Given the description of an element on the screen output the (x, y) to click on. 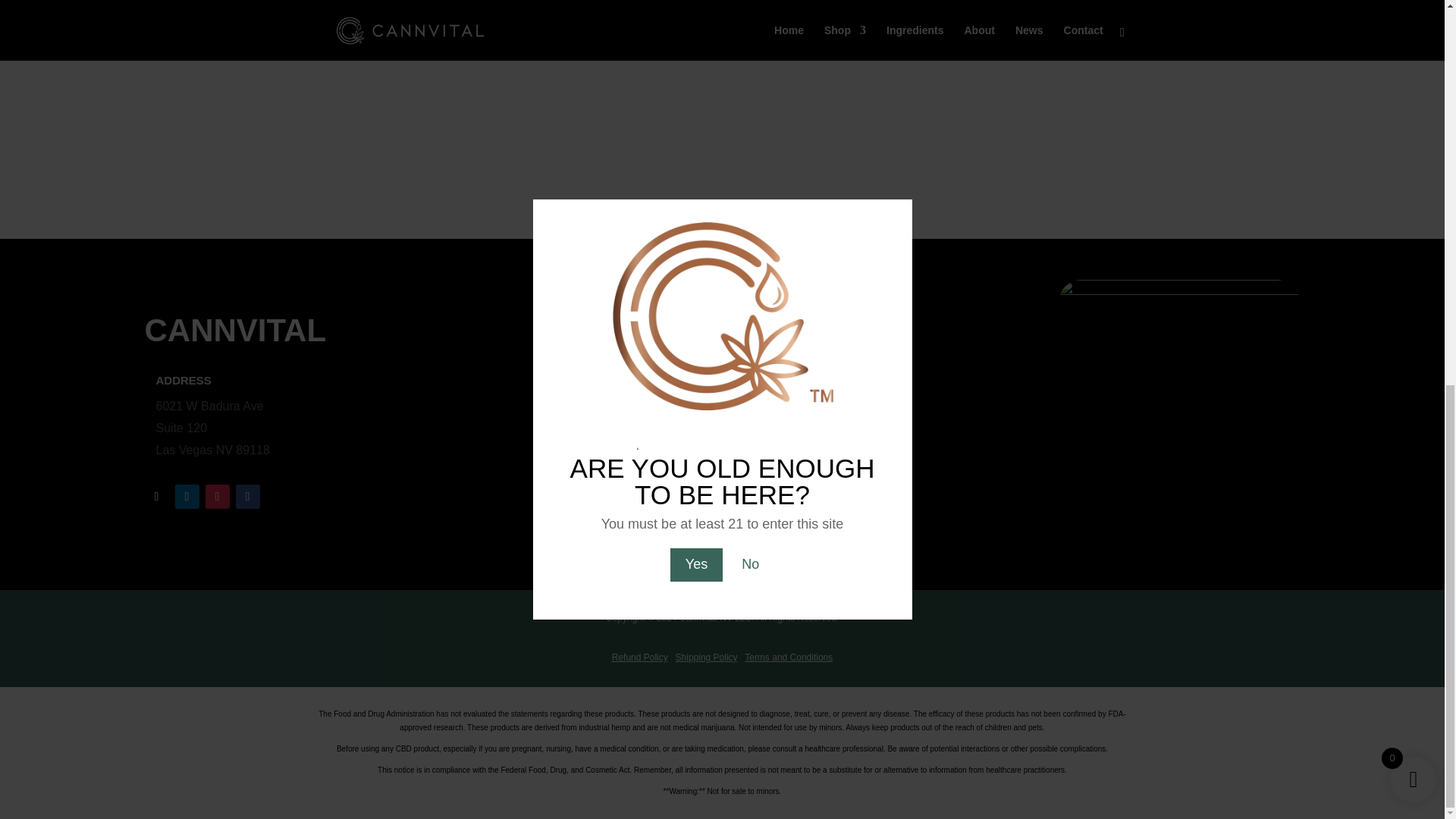
Follow on Facebook (246, 496)
Follow on Instagram (216, 496)
Follow on LinkedIn (186, 496)
cannvital-hq-vegas (1179, 360)
Terms and Conditions (788, 656)
Shipping Policy (706, 656)
Refund Policy (639, 656)
Follow on X (156, 496)
